Given the description of an element on the screen output the (x, y) to click on. 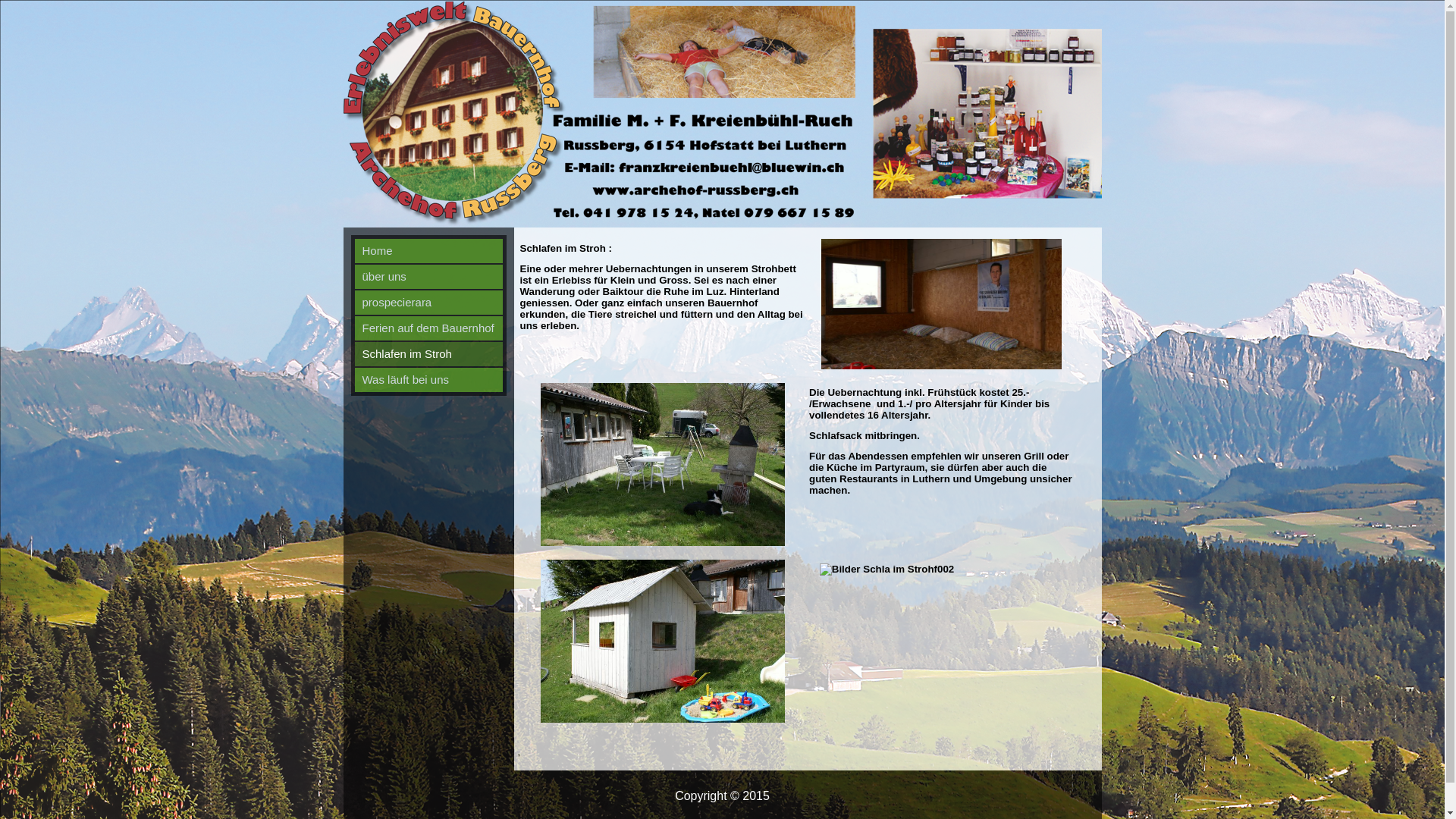
Ferien auf dem Bauernhof Element type: text (428, 328)
Home Element type: text (428, 250)
prospecierara Element type: text (428, 302)
Schlafen im Stroh Element type: text (428, 354)
